Given the description of an element on the screen output the (x, y) to click on. 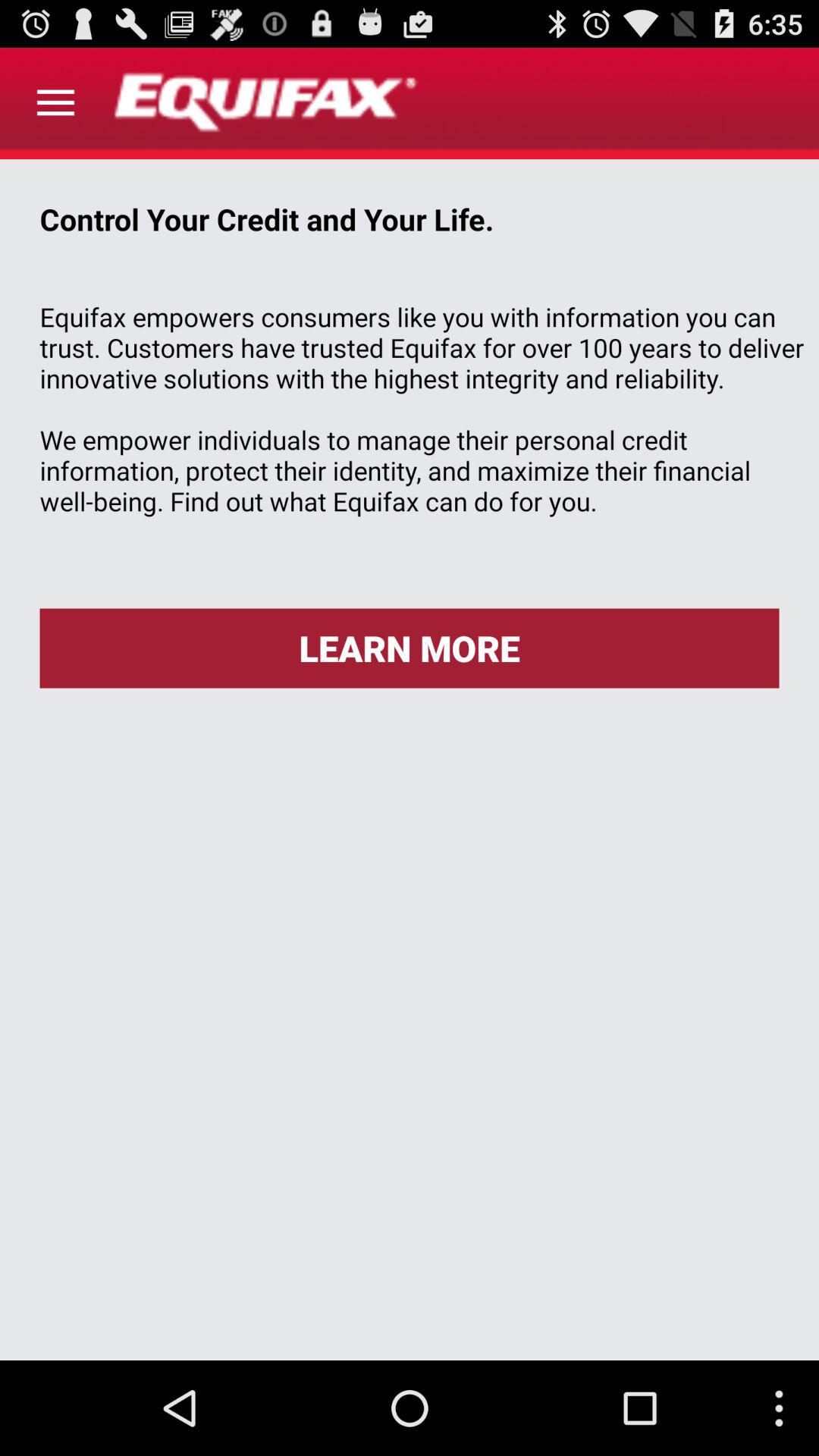
jump to learn more icon (409, 648)
